Given the description of an element on the screen output the (x, y) to click on. 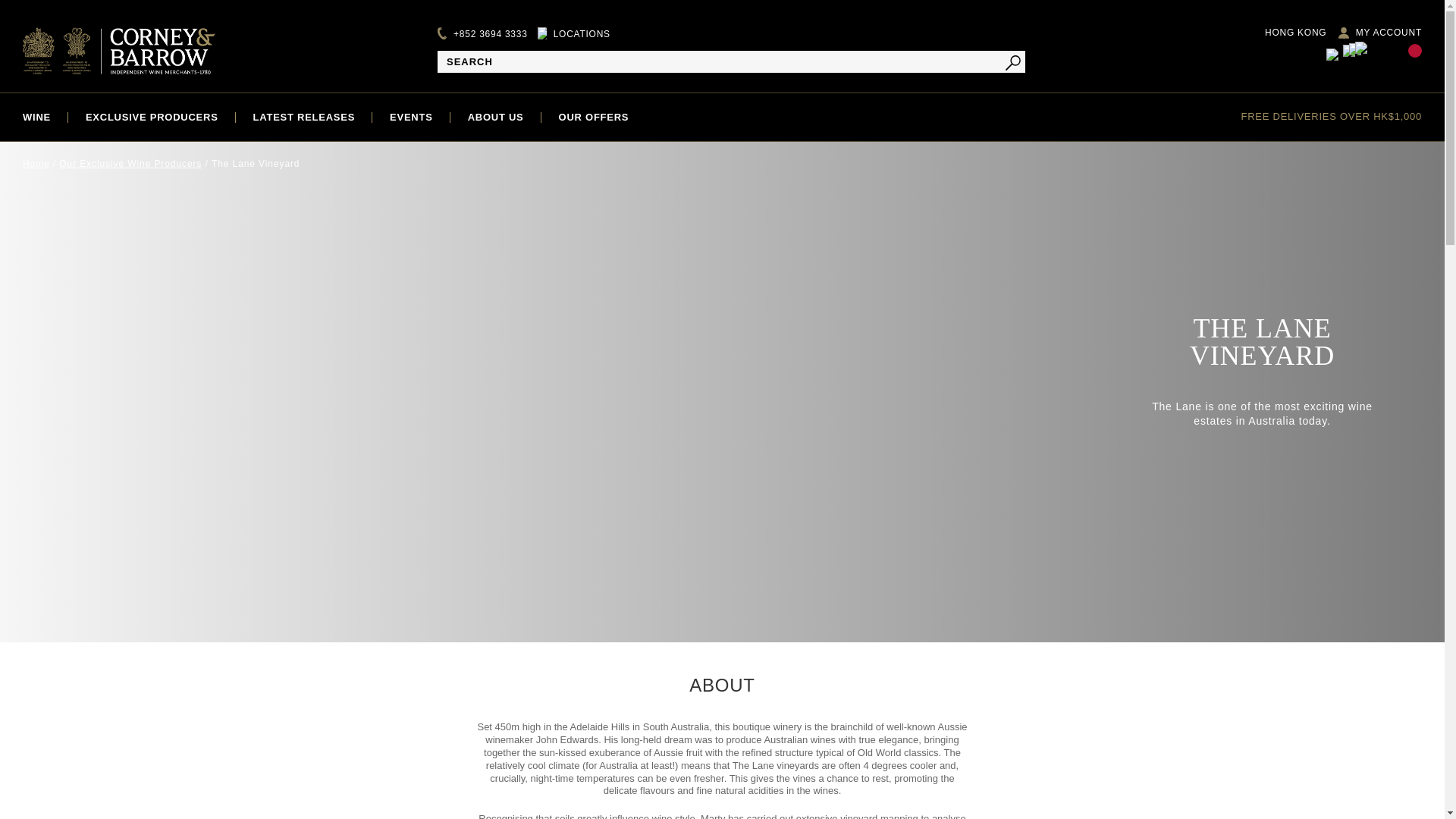
LOCATIONS (581, 33)
WINE (36, 117)
MY ACCOUNT (1388, 32)
Go to Home Page (36, 163)
Search (1013, 62)
HONG KONG (1286, 32)
